Given the description of an element on the screen output the (x, y) to click on. 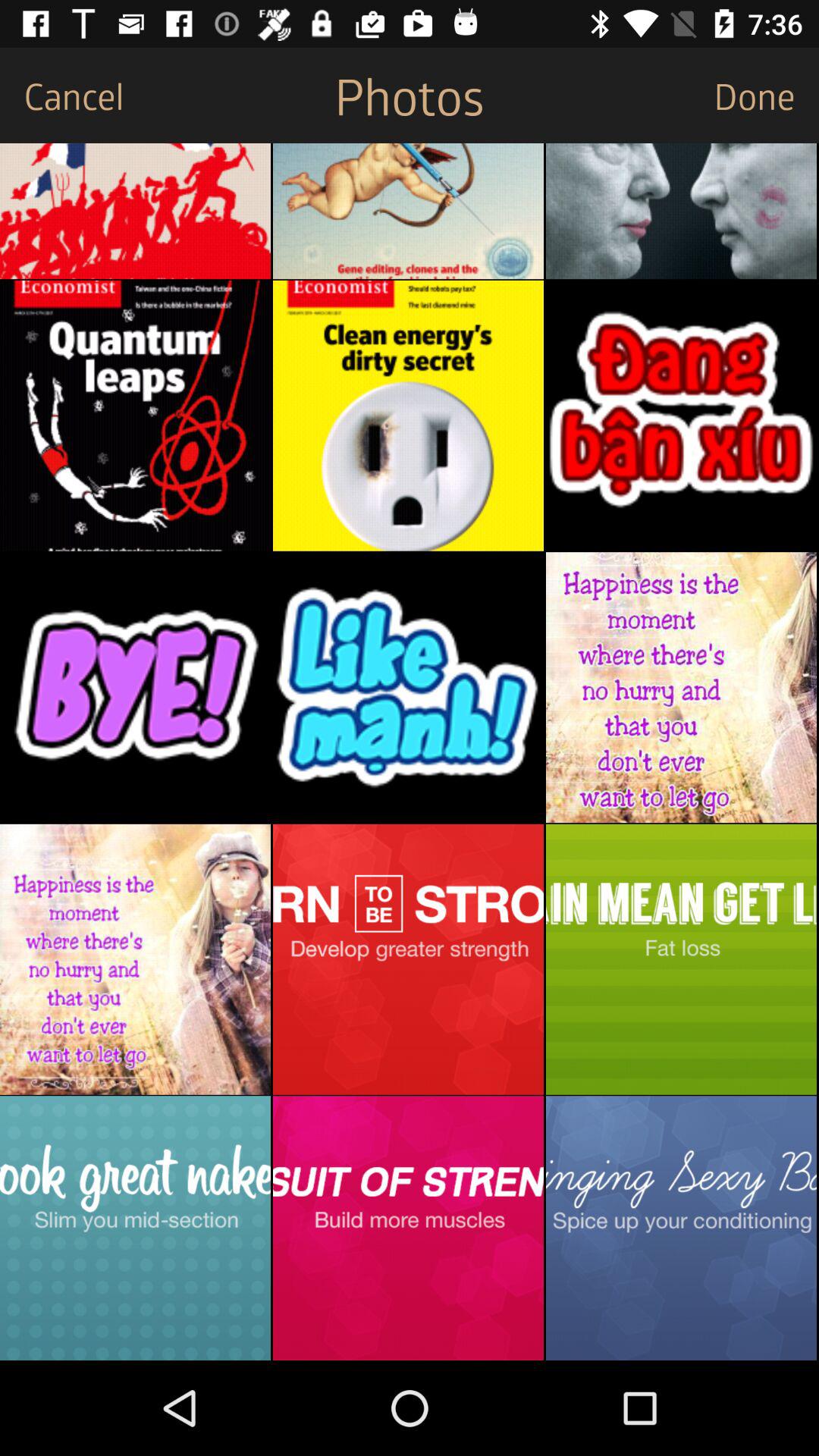
select photo (135, 687)
